Given the description of an element on the screen output the (x, y) to click on. 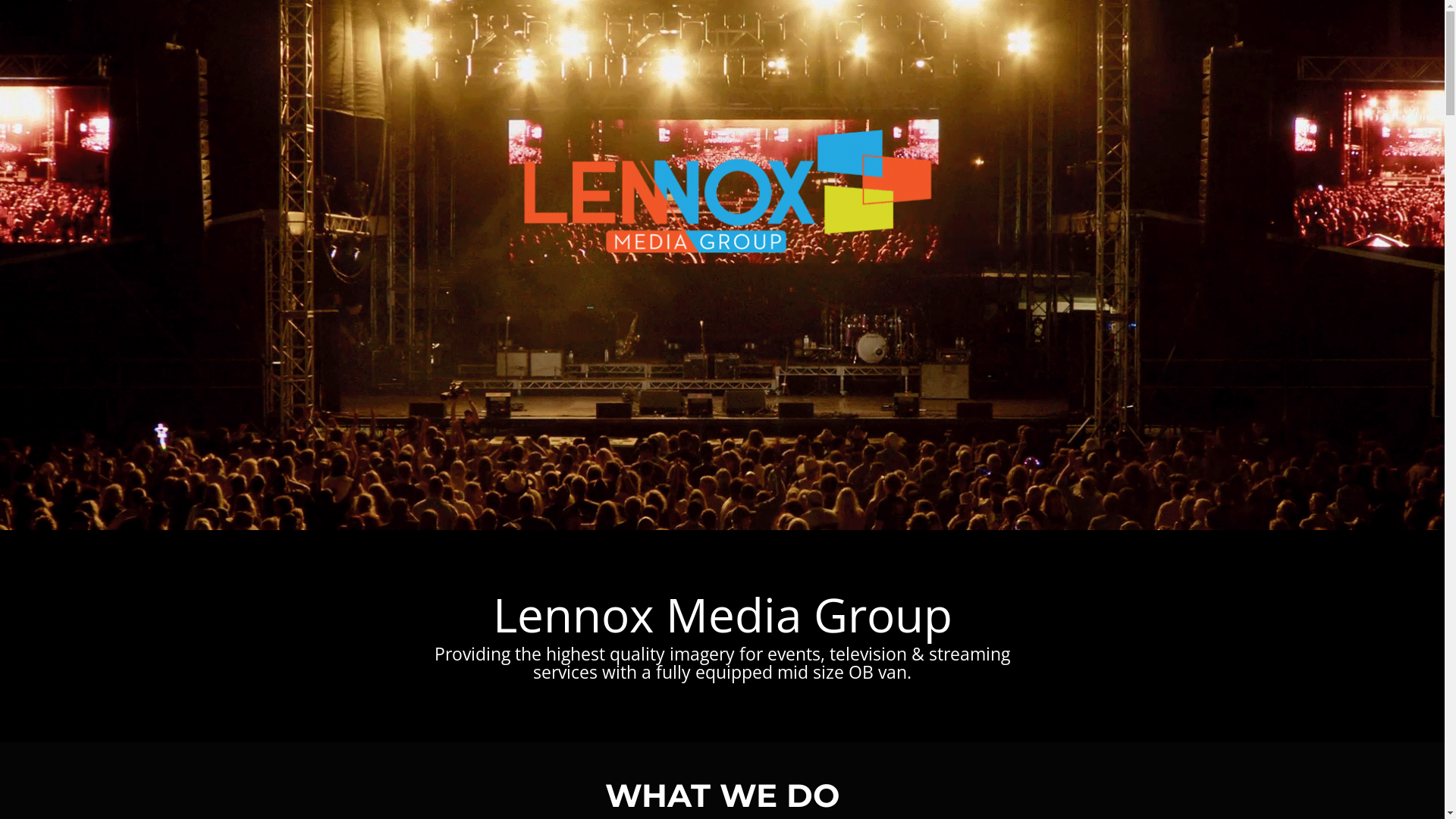
stage wide with logo Element type: hover (722, 265)
